Given the description of an element on the screen output the (x, y) to click on. 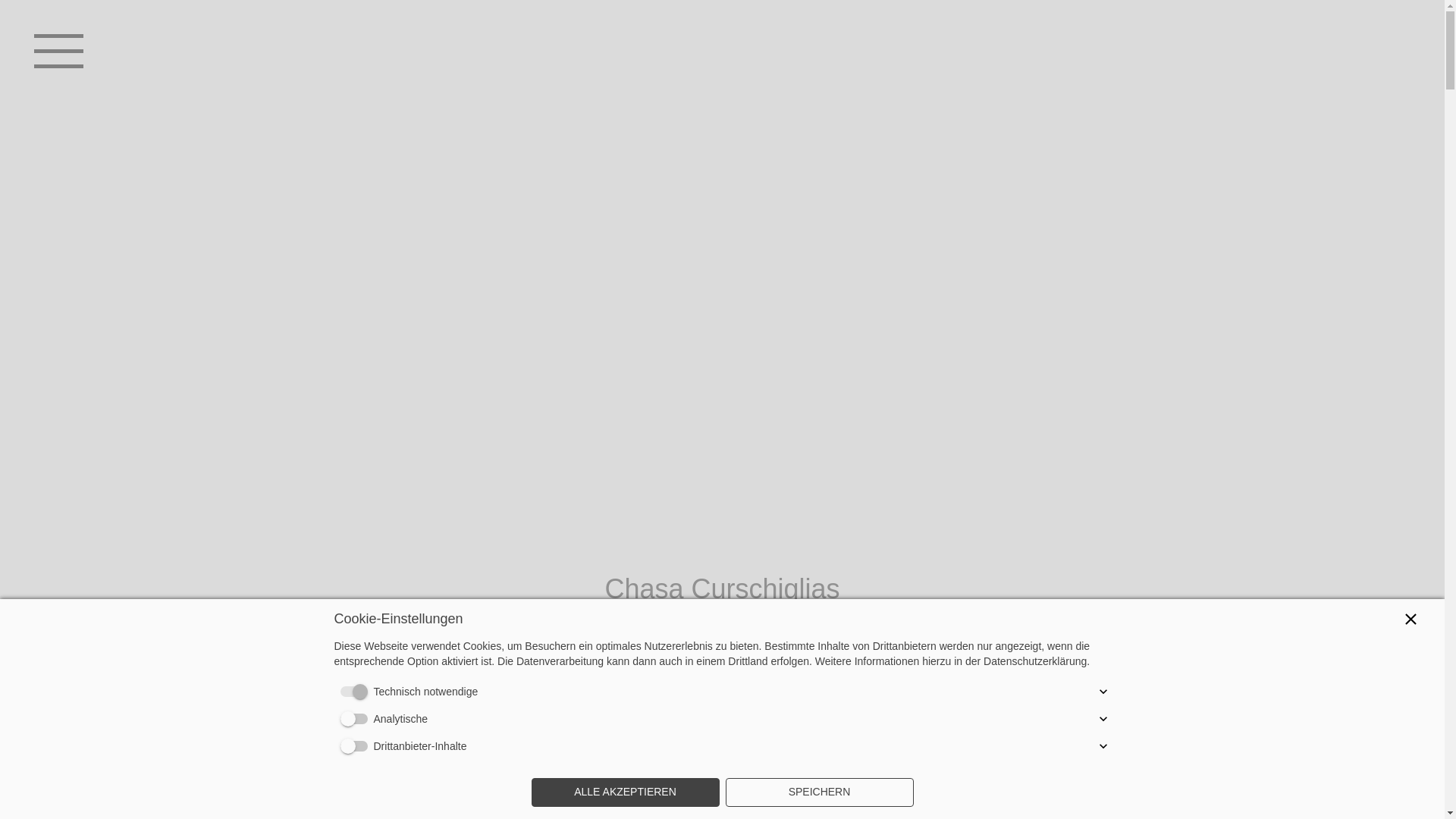
ALLE AKZEPTIEREN Element type: text (624, 792)
SPEICHERN Element type: text (818, 792)
